Given the description of an element on the screen output the (x, y) to click on. 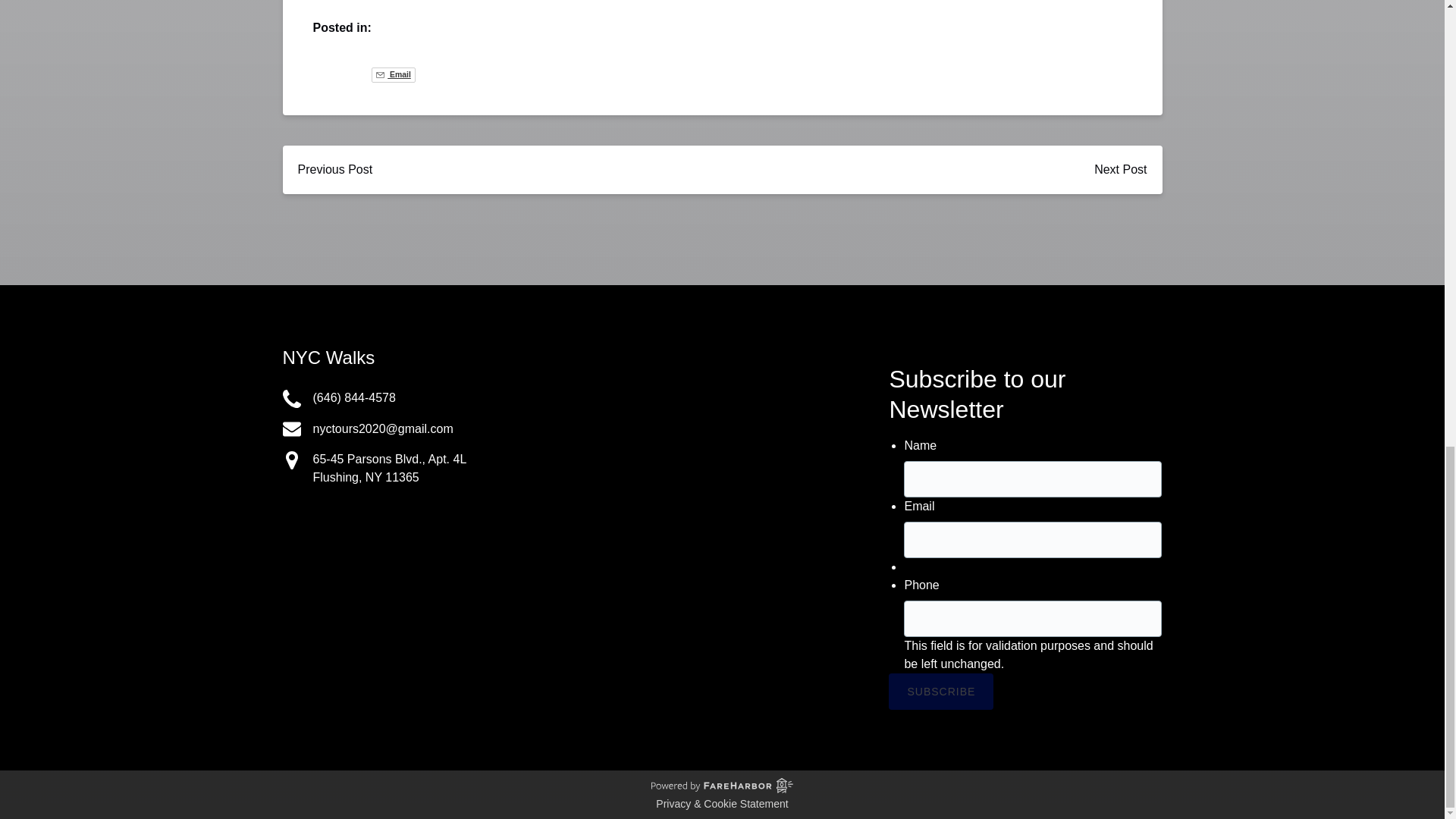
Previous Post (334, 169)
Map Marker (290, 460)
Next Post (1119, 169)
Subscribe (940, 691)
Subscribe (940, 691)
Email this page to a friend. (392, 74)
Click here to visit next post (1119, 169)
Phone (290, 398)
Envelope (290, 429)
Click here to visit previous post (334, 169)
Email (392, 74)
